Given the description of an element on the screen output the (x, y) to click on. 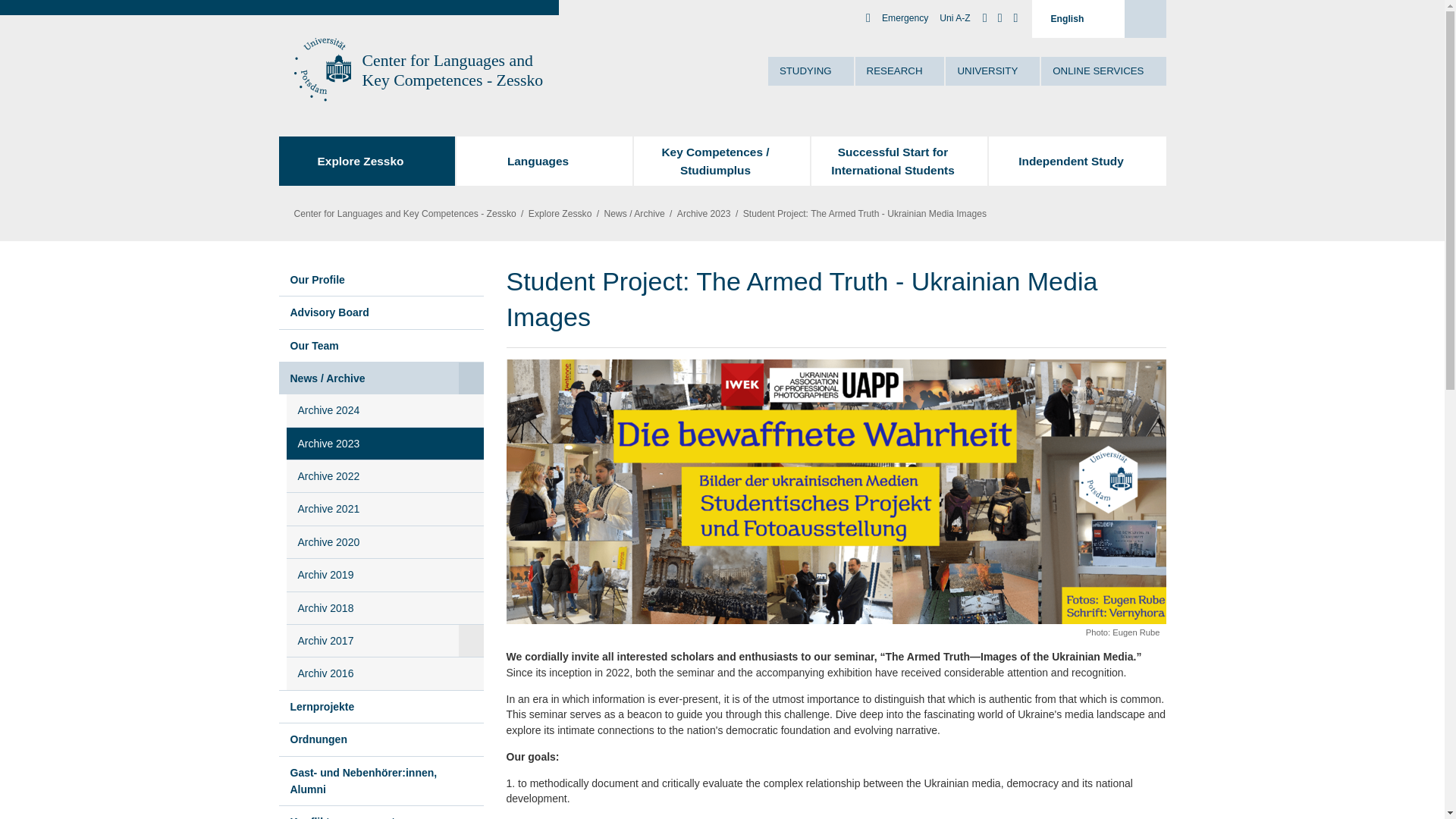
Emergency (905, 18)
to the Uni-Homepage (319, 70)
Uni A-Z (954, 18)
